Given the description of an element on the screen output the (x, y) to click on. 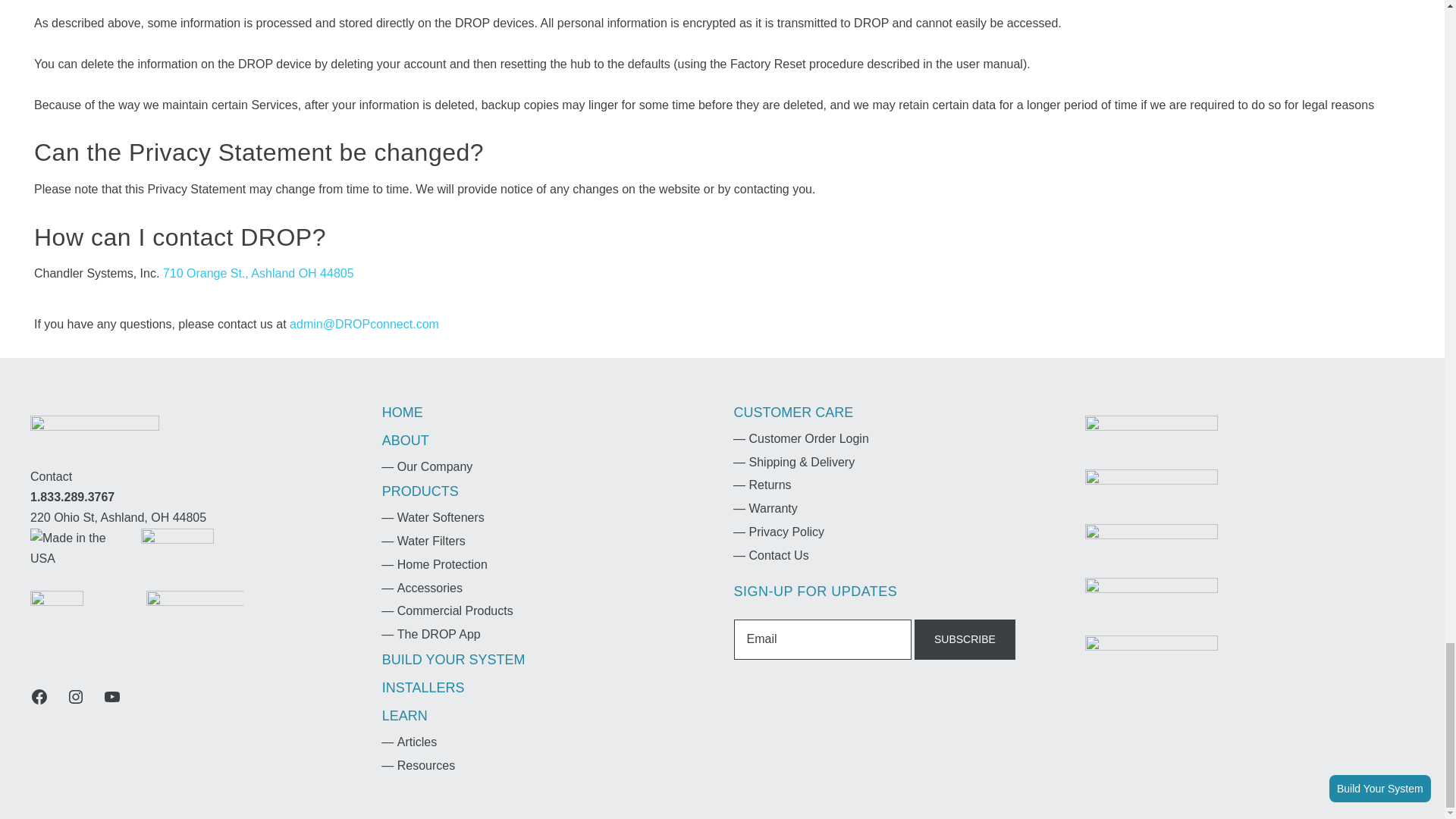
Email (822, 639)
Open address in Google Maps (194, 517)
Subscribe (964, 639)
